Given the description of an element on the screen output the (x, y) to click on. 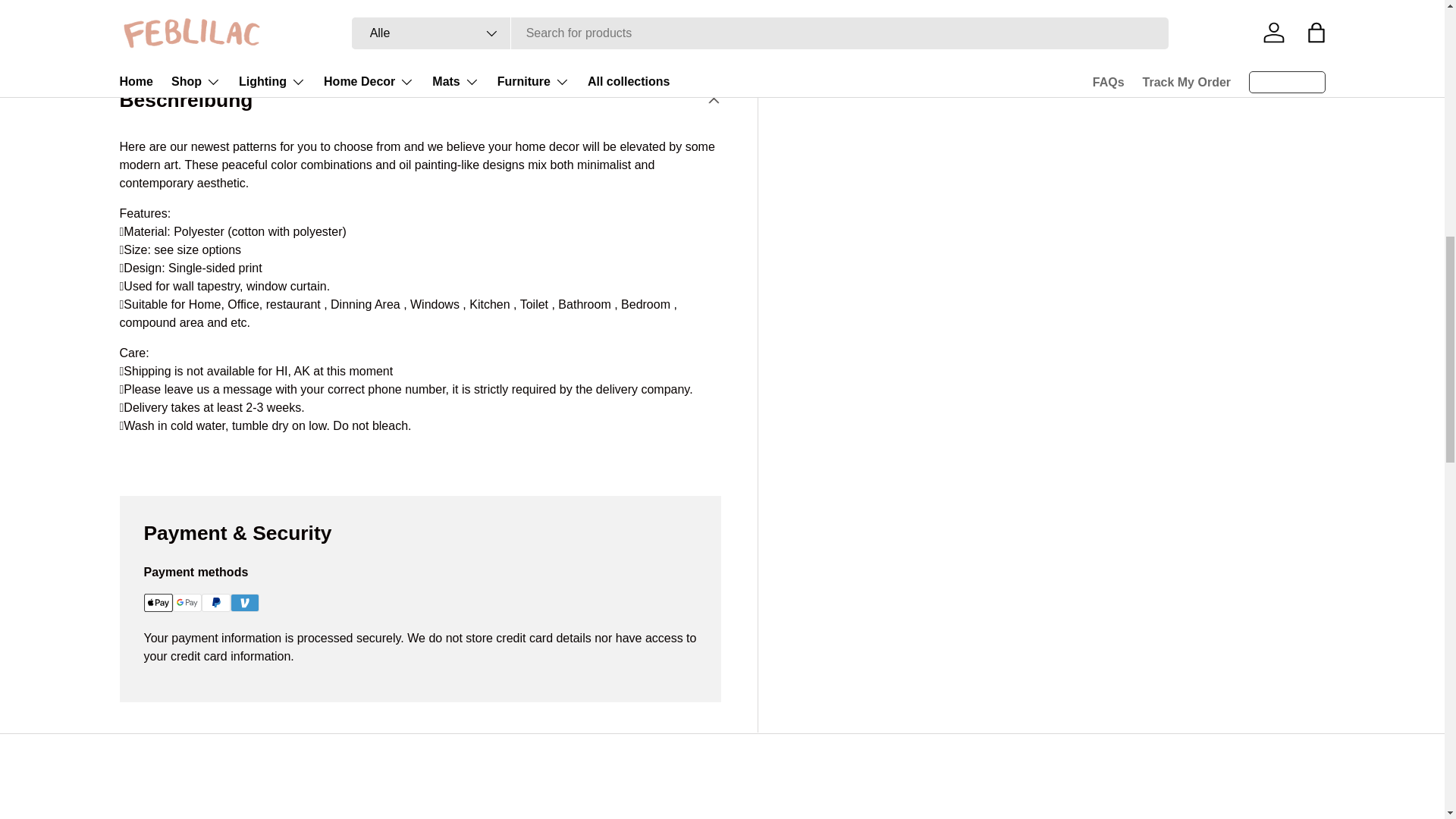
Google Pay (187, 602)
PayPal (216, 602)
Apple Pay (158, 602)
Venmo (244, 602)
